Given the description of an element on the screen output the (x, y) to click on. 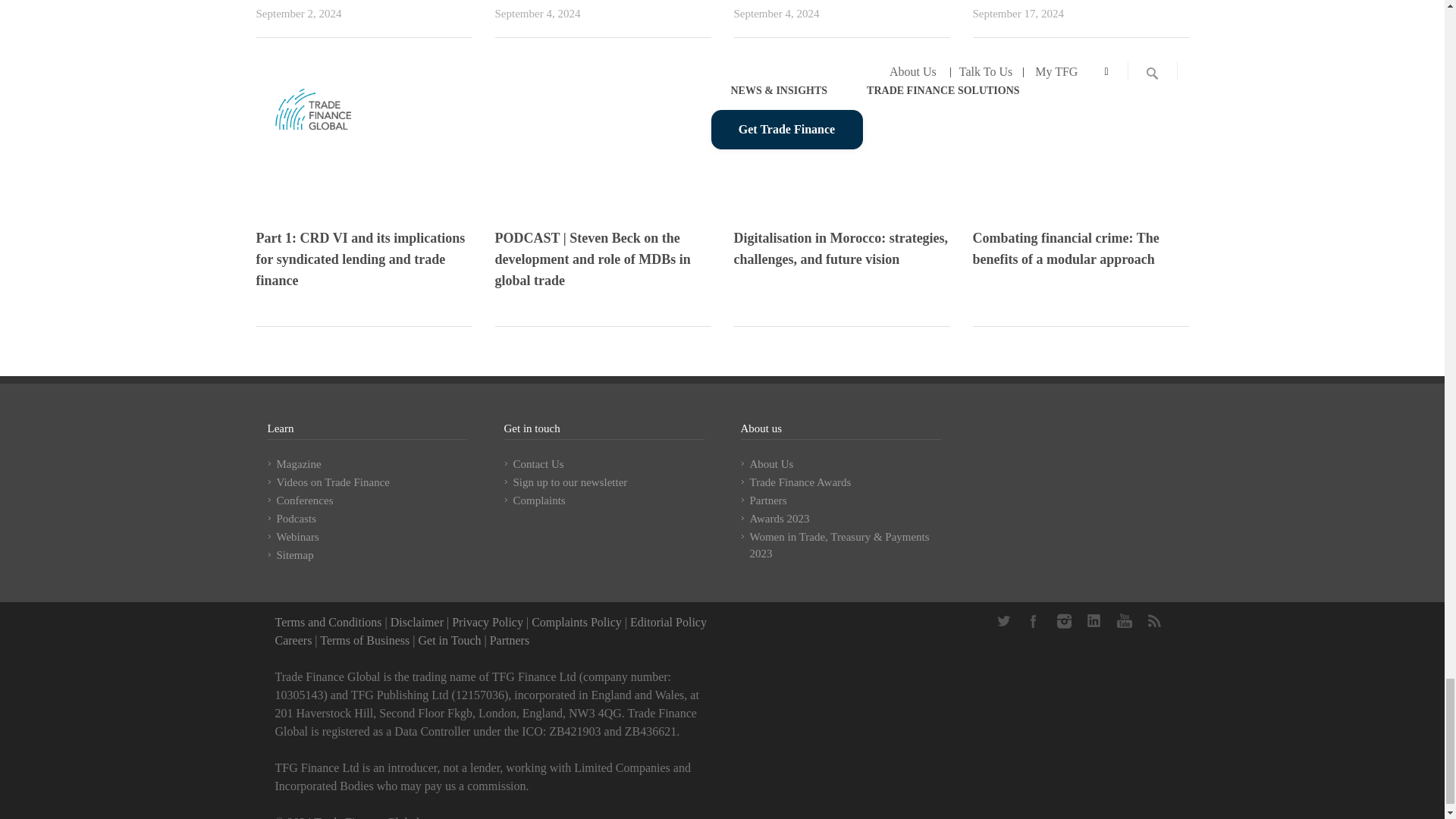
Privacy Policy (486, 621)
Contact Us (448, 640)
Partners (509, 640)
Terms and Conditions (328, 621)
Disclaimer (417, 621)
Complaints Policy (576, 621)
Editorial Policy (668, 621)
Terms of Business (364, 640)
Trade Finance Jobs (293, 640)
